Given the description of an element on the screen output the (x, y) to click on. 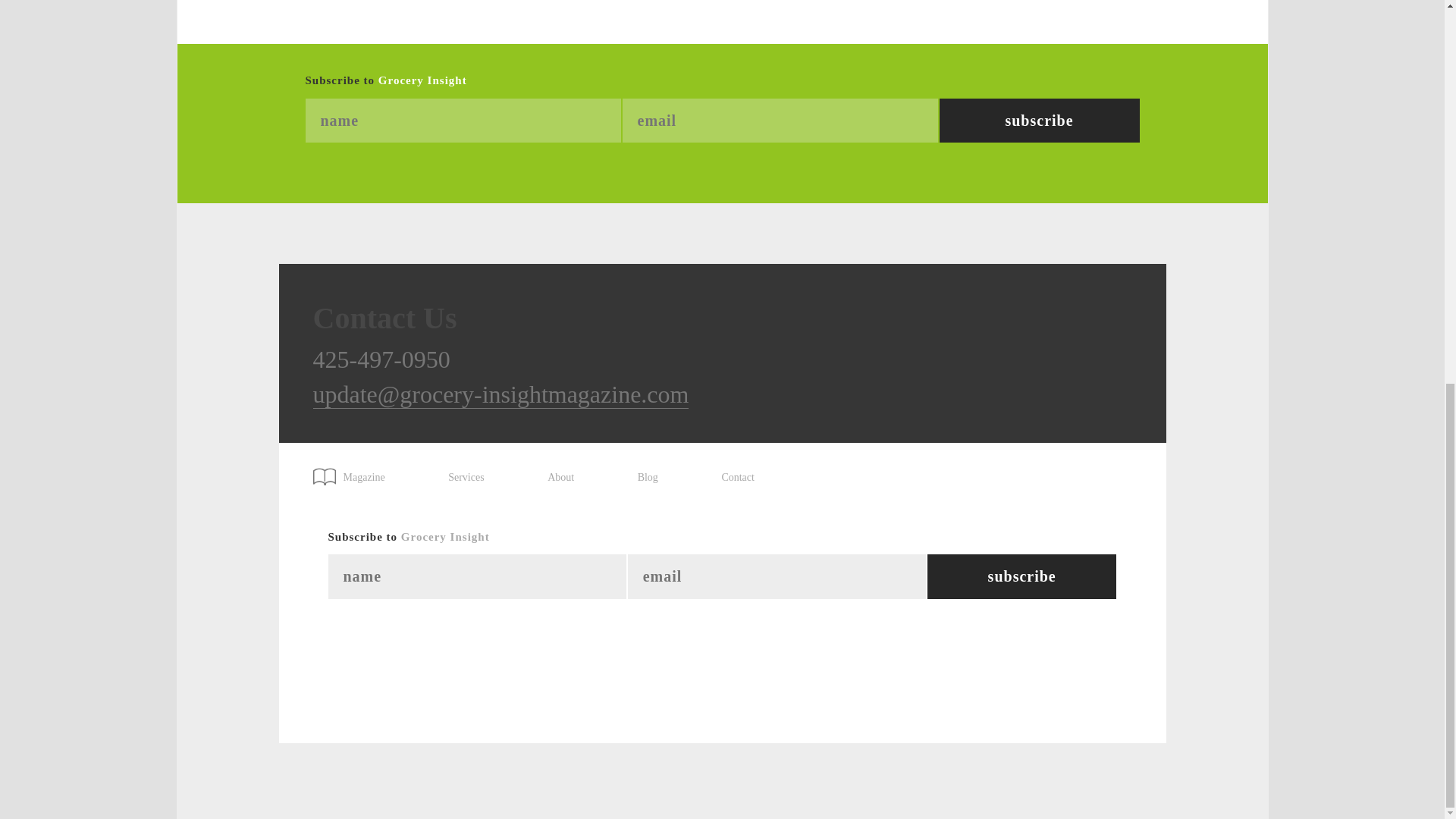
Subscribe (1021, 576)
Contact (737, 477)
Blog (647, 477)
Subscribe (1021, 576)
About (560, 477)
Magazine (355, 471)
Services (465, 477)
Subscribe (1038, 120)
Subscribe (1038, 120)
